Given the description of an element on the screen output the (x, y) to click on. 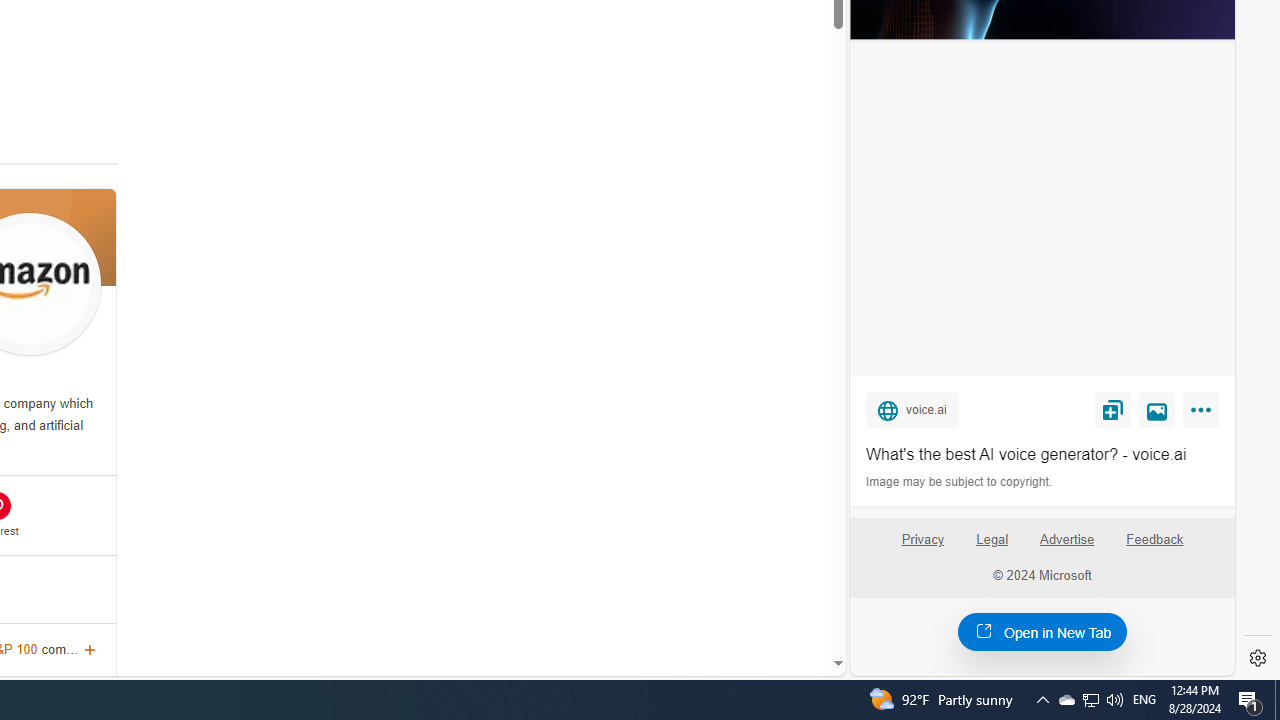
Open in New Tab (1042, 631)
Advertise (1067, 547)
Legal (992, 547)
AutomationID: mfa_root (762, 603)
Privacy (922, 539)
Legal (991, 539)
Image may be subject to copyright. (959, 481)
Save (1112, 409)
Privacy (922, 547)
Settings (1258, 658)
View image (1157, 409)
More (1204, 413)
